Given the description of an element on the screen output the (x, y) to click on. 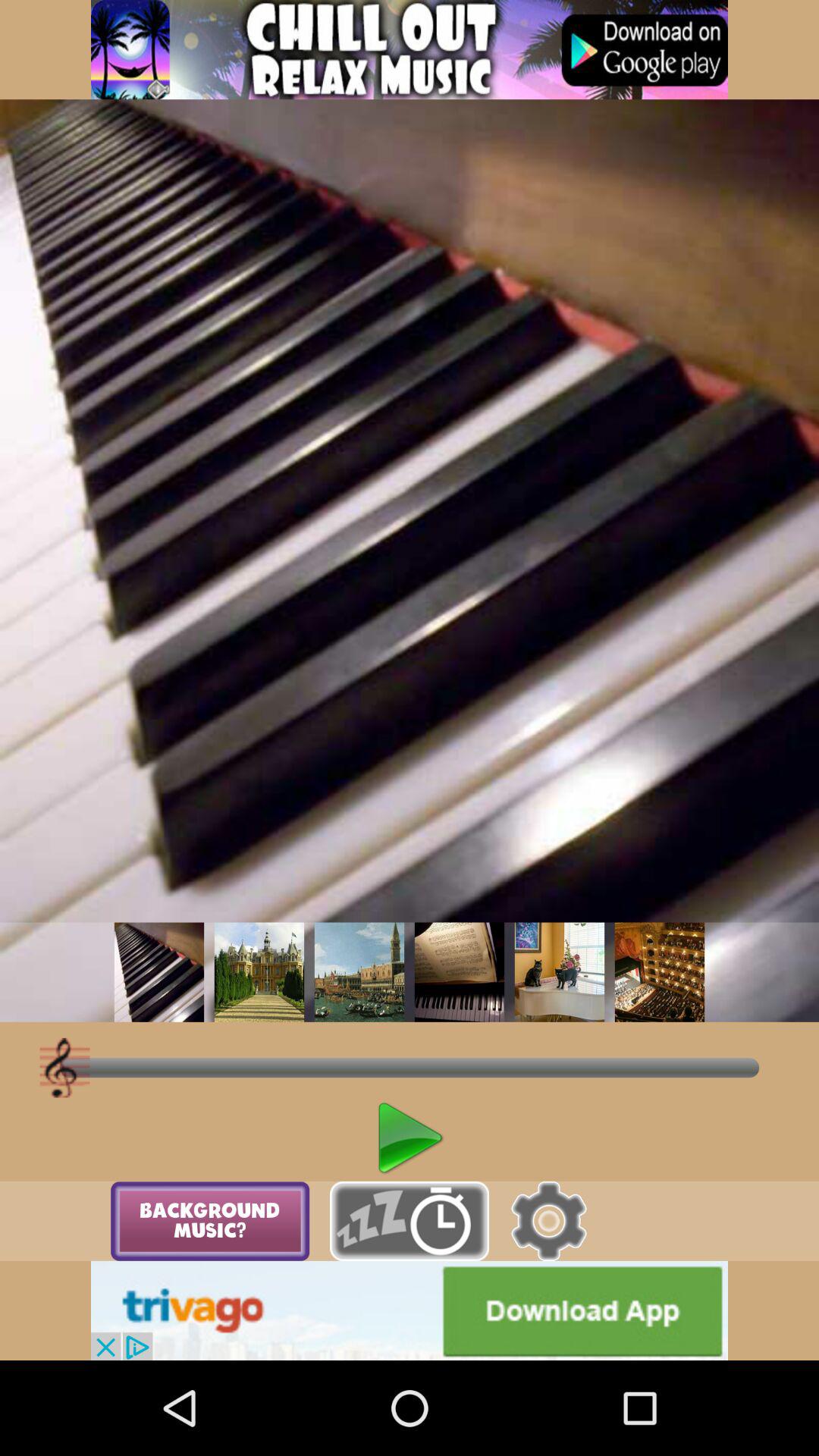
play audio file (159, 972)
